Given the description of an element on the screen output the (x, y) to click on. 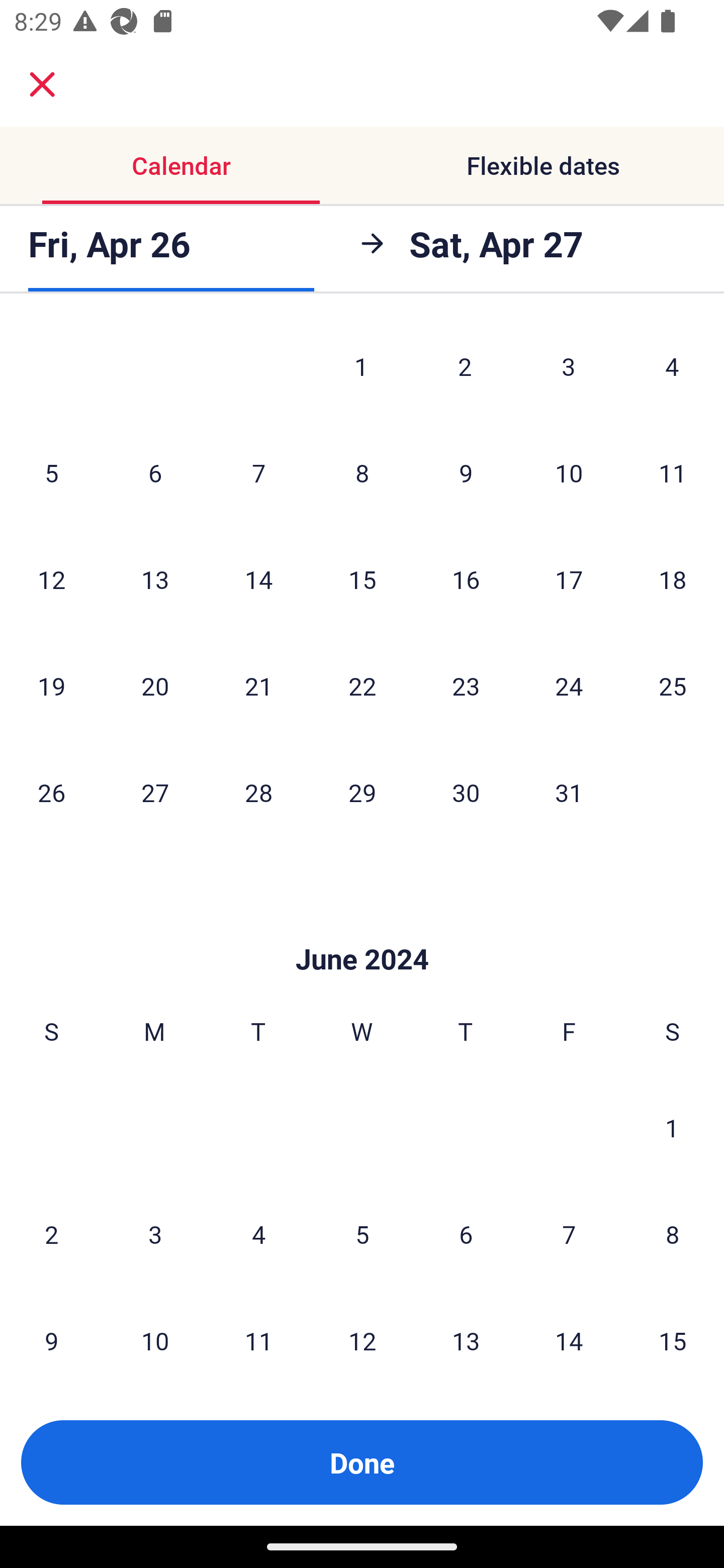
close. (42, 84)
Flexible dates (542, 164)
1 Wednesday, May 1, 2024 (361, 369)
2 Thursday, May 2, 2024 (464, 369)
3 Friday, May 3, 2024 (568, 369)
4 Saturday, May 4, 2024 (672, 369)
5 Sunday, May 5, 2024 (51, 472)
6 Monday, May 6, 2024 (155, 472)
7 Tuesday, May 7, 2024 (258, 472)
8 Wednesday, May 8, 2024 (362, 472)
9 Thursday, May 9, 2024 (465, 472)
10 Friday, May 10, 2024 (569, 472)
11 Saturday, May 11, 2024 (672, 472)
12 Sunday, May 12, 2024 (51, 579)
13 Monday, May 13, 2024 (155, 579)
14 Tuesday, May 14, 2024 (258, 579)
15 Wednesday, May 15, 2024 (362, 579)
16 Thursday, May 16, 2024 (465, 579)
17 Friday, May 17, 2024 (569, 579)
18 Saturday, May 18, 2024 (672, 579)
19 Sunday, May 19, 2024 (51, 684)
20 Monday, May 20, 2024 (155, 684)
21 Tuesday, May 21, 2024 (258, 684)
22 Wednesday, May 22, 2024 (362, 684)
23 Thursday, May 23, 2024 (465, 684)
24 Friday, May 24, 2024 (569, 684)
25 Saturday, May 25, 2024 (672, 684)
26 Sunday, May 26, 2024 (51, 791)
27 Monday, May 27, 2024 (155, 791)
28 Tuesday, May 28, 2024 (258, 791)
29 Wednesday, May 29, 2024 (362, 791)
30 Thursday, May 30, 2024 (465, 791)
31 Friday, May 31, 2024 (569, 791)
Skip to Done (362, 929)
1 Saturday, June 1, 2024 (672, 1127)
2 Sunday, June 2, 2024 (51, 1233)
3 Monday, June 3, 2024 (155, 1233)
4 Tuesday, June 4, 2024 (258, 1233)
5 Wednesday, June 5, 2024 (362, 1233)
6 Thursday, June 6, 2024 (465, 1233)
7 Friday, June 7, 2024 (569, 1233)
8 Saturday, June 8, 2024 (672, 1233)
9 Sunday, June 9, 2024 (51, 1333)
10 Monday, June 10, 2024 (155, 1333)
11 Tuesday, June 11, 2024 (258, 1333)
12 Wednesday, June 12, 2024 (362, 1333)
13 Thursday, June 13, 2024 (465, 1333)
14 Friday, June 14, 2024 (569, 1333)
15 Saturday, June 15, 2024 (672, 1333)
Done (361, 1462)
